Given the description of an element on the screen output the (x, y) to click on. 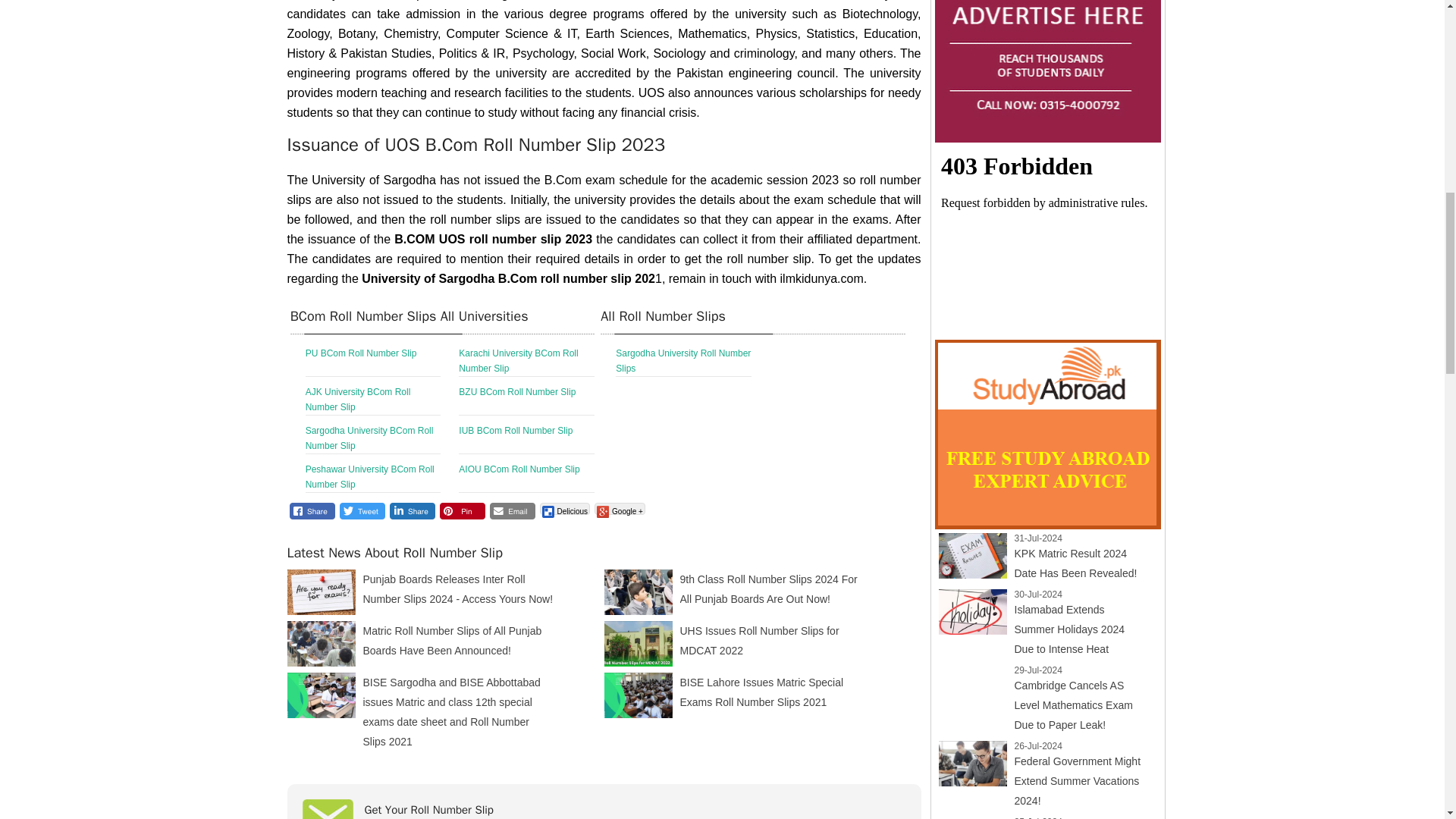
IUB BCom Roll Number Slip (526, 438)
AIOU BCom Roll Number Slip (526, 477)
Peshawar University BCom Roll Number Slip (373, 477)
Sargodha University BCom Roll Number Slip (373, 438)
AJK University BCom Roll Number Slip (373, 399)
BZU BCom Roll Number Slip (526, 399)
Karachi University BCom Roll Number Slip (526, 360)
PU BCom Roll Number Slip (373, 360)
